Given the description of an element on the screen output the (x, y) to click on. 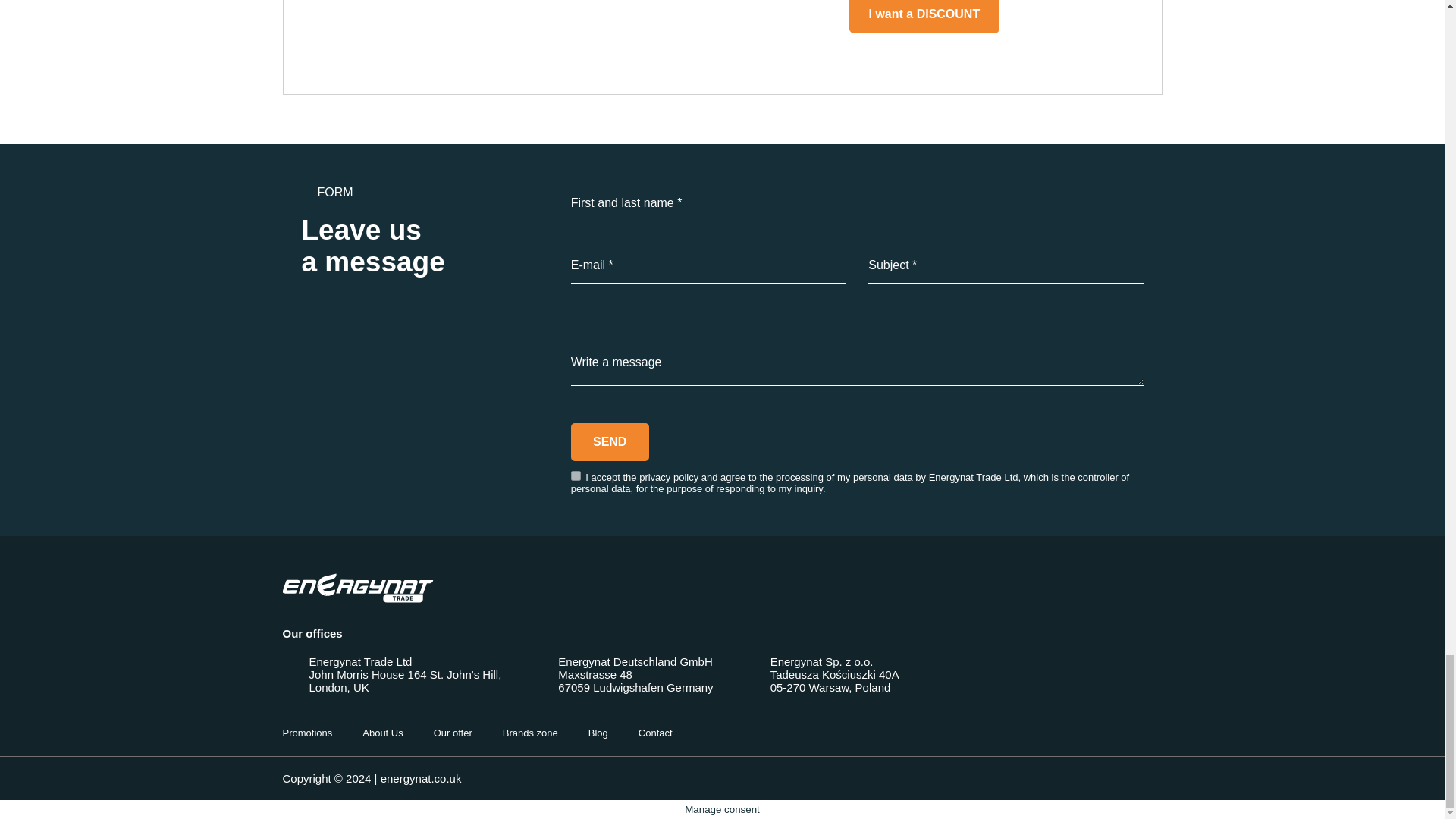
Send (609, 442)
